Given the description of an element on the screen output the (x, y) to click on. 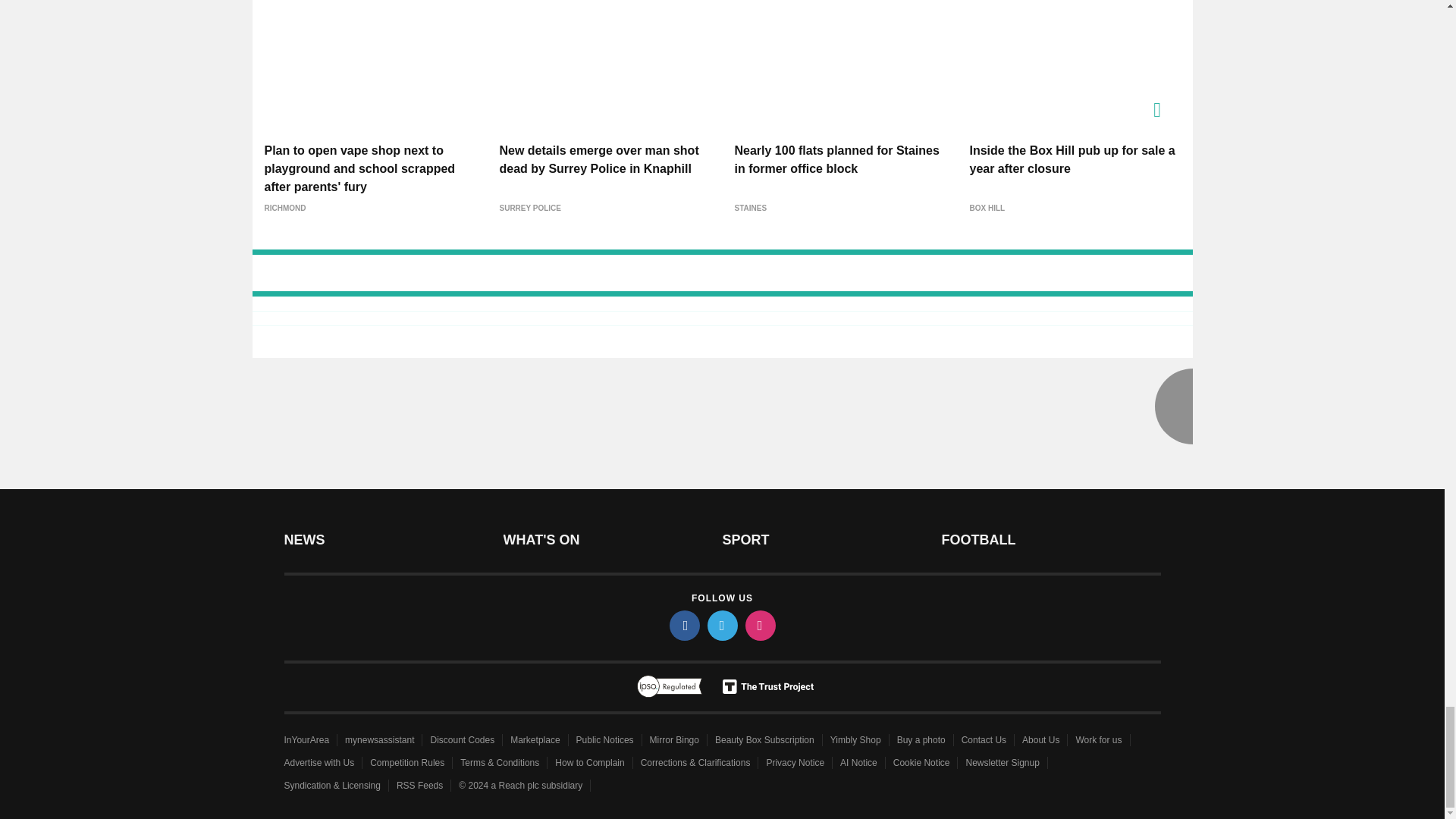
instagram (759, 625)
facebook (683, 625)
twitter (721, 625)
